Given the description of an element on the screen output the (x, y) to click on. 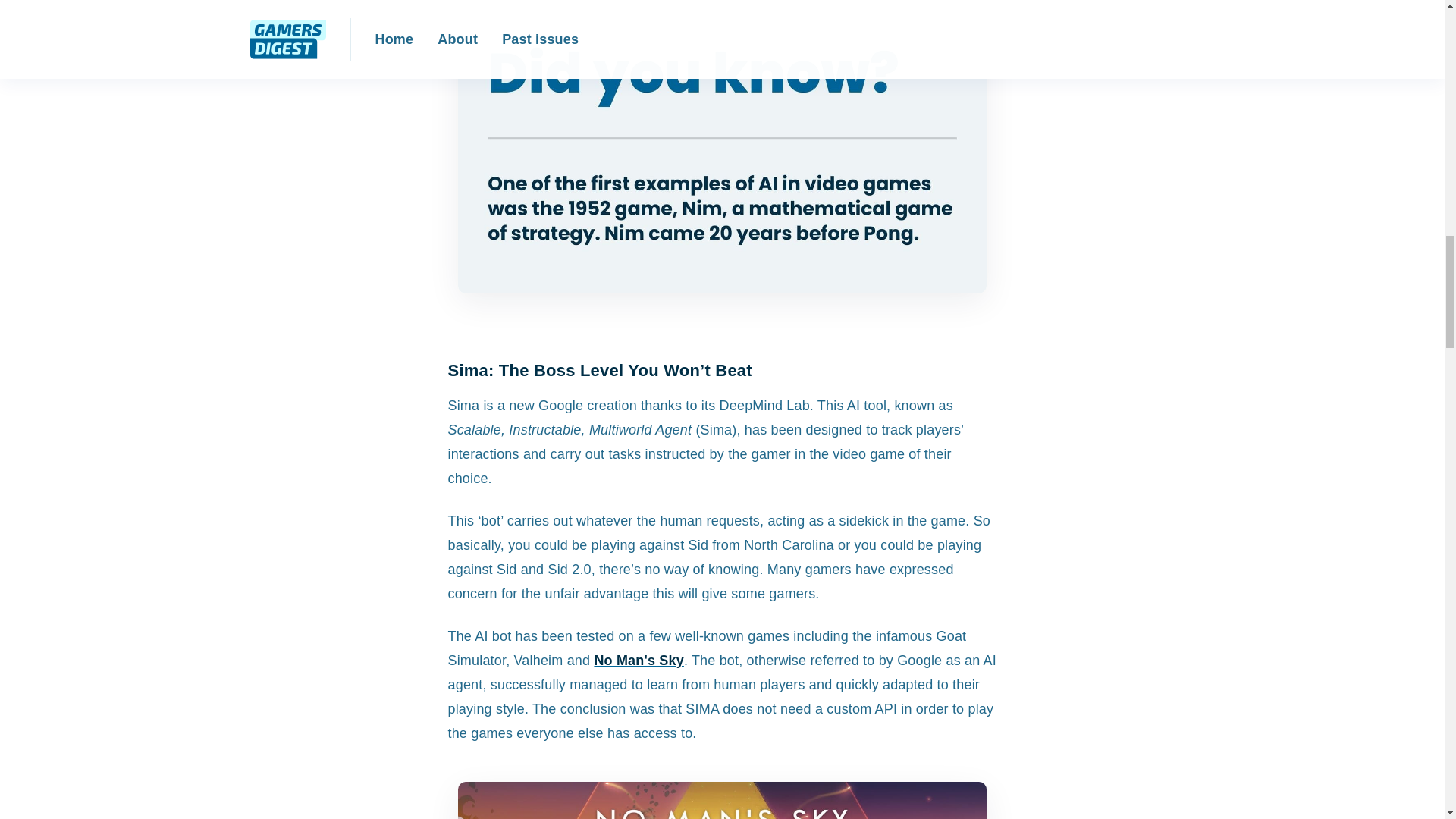
No Man's Sky (638, 660)
